Given the description of an element on the screen output the (x, y) to click on. 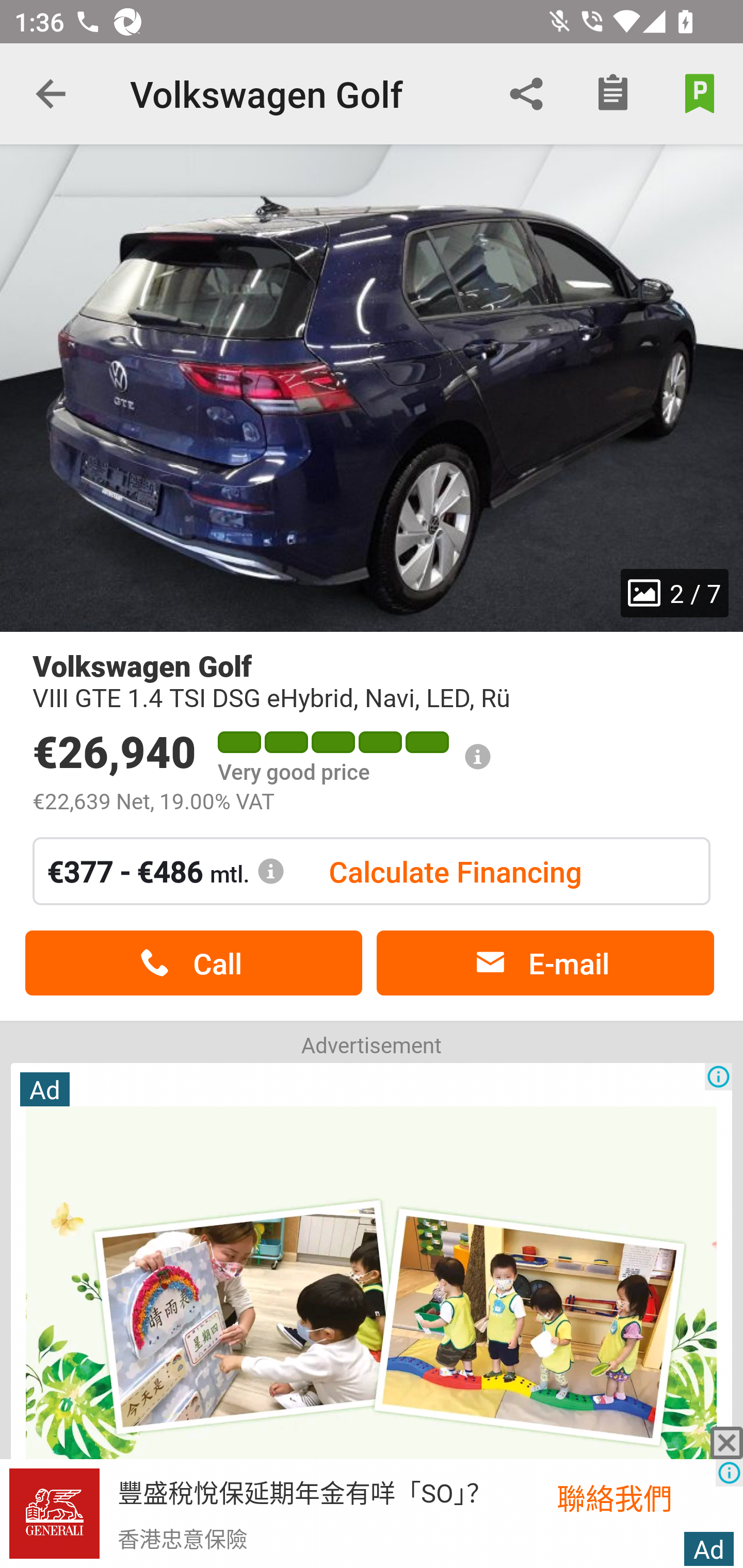
Navigate up (50, 93)
Share via (525, 93)
Checklist (612, 93)
Park (699, 93)
Calculate Financing (454, 870)
€377 - €486 mtl. (165, 870)
Call (193, 963)
E-mail (545, 963)
Ad Choices Icon (718, 1076)
豐盛稅悅保延期年金有咩「SO」？ 香港忠意保險 聯絡我們 Ad Ad Choices Icon (371, 1513)
Ad Choices Icon (729, 1472)
聯絡我們 (635, 1496)
豐盛稅悅保延期年金有咩「SO」？ (304, 1490)
香港忠意保險 (182, 1537)
